Given the description of an element on the screen output the (x, y) to click on. 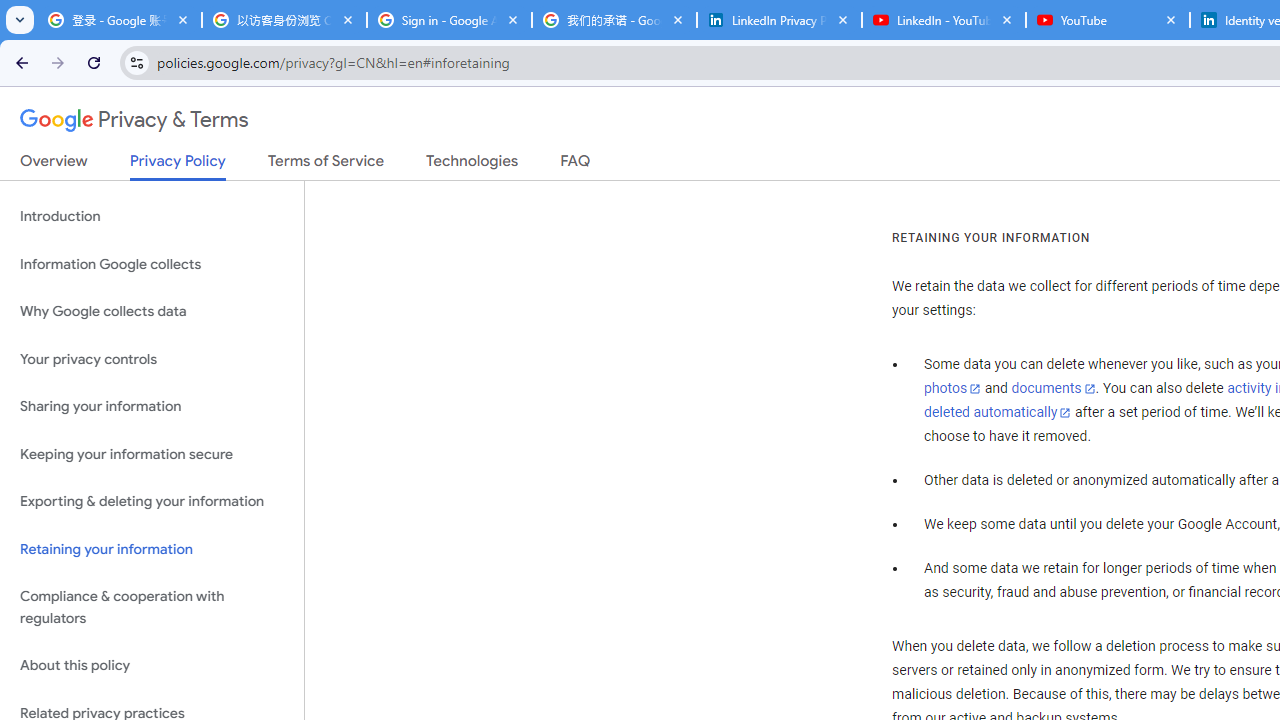
Sign in - Google Accounts (449, 20)
Sharing your information (152, 407)
LinkedIn - YouTube (943, 20)
Retaining your information (152, 548)
Compliance & cooperation with regulators (152, 607)
About this policy (152, 666)
Information Google collects (152, 263)
Your privacy controls (152, 358)
